Given the description of an element on the screen output the (x, y) to click on. 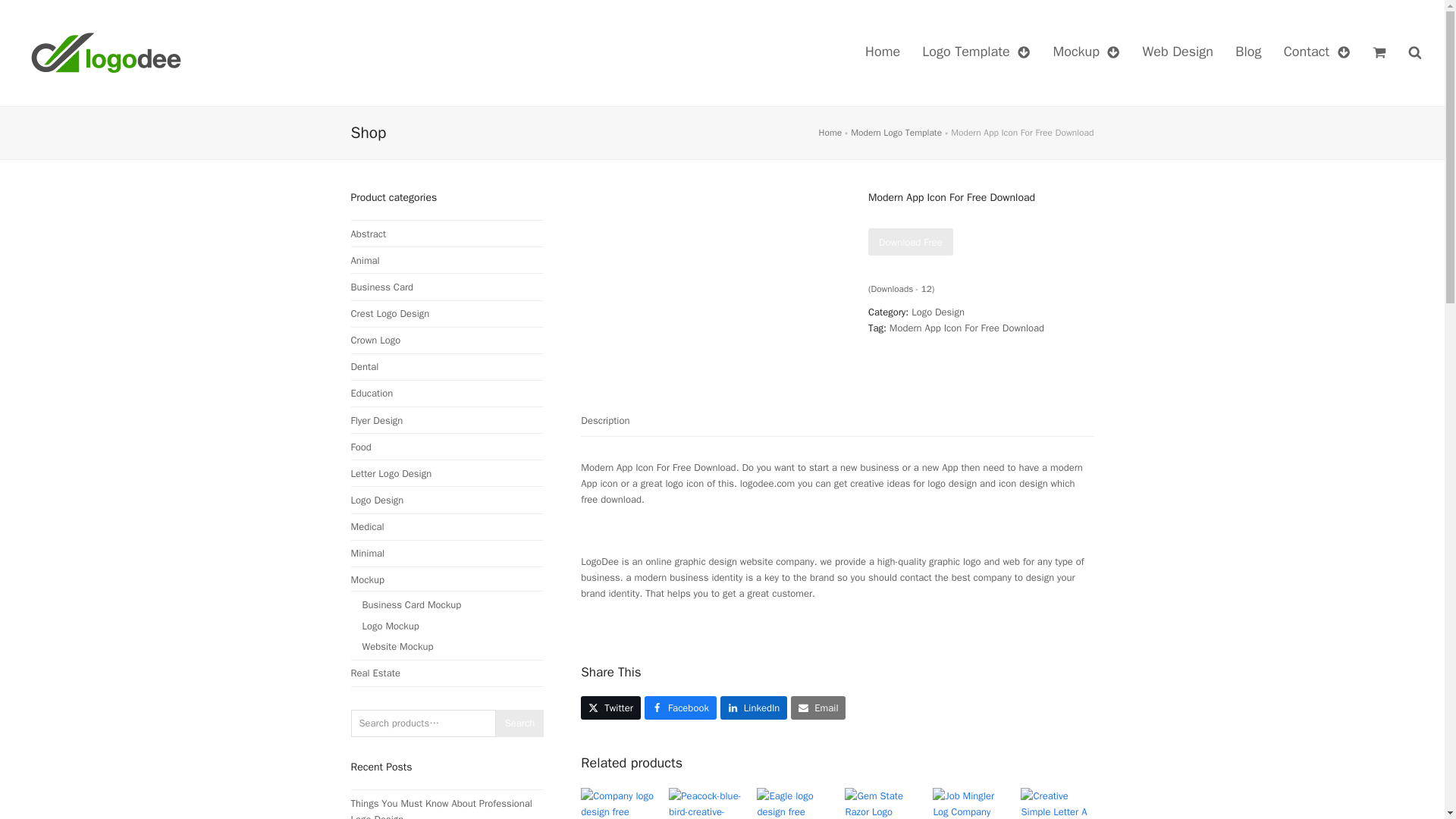
Description (604, 420)
Contact (1317, 53)
LinkedIn (753, 707)
Facebook (680, 707)
Web Design (1177, 53)
Home (830, 132)
Mockup (1085, 53)
Twitter (610, 707)
Modern App Icon For Free Download (966, 327)
Logo Template (975, 53)
